Given the description of an element on the screen output the (x, y) to click on. 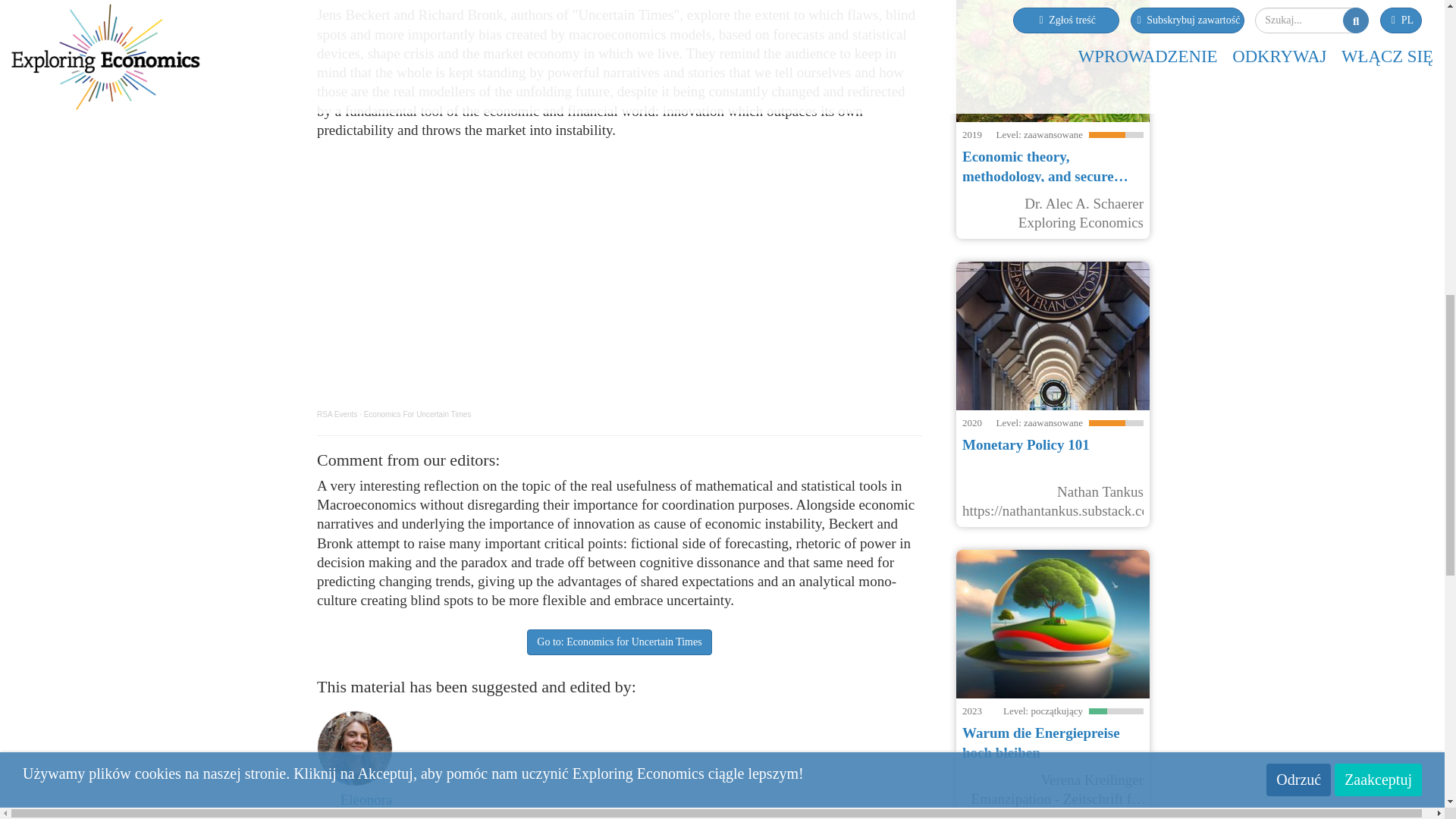
Economics For Uncertain Times (417, 414)
RSA Events (336, 414)
RSA Events (336, 414)
Economics For Uncertain Times (417, 414)
Go to: Economics for Uncertain Times (619, 642)
